Given the description of an element on the screen output the (x, y) to click on. 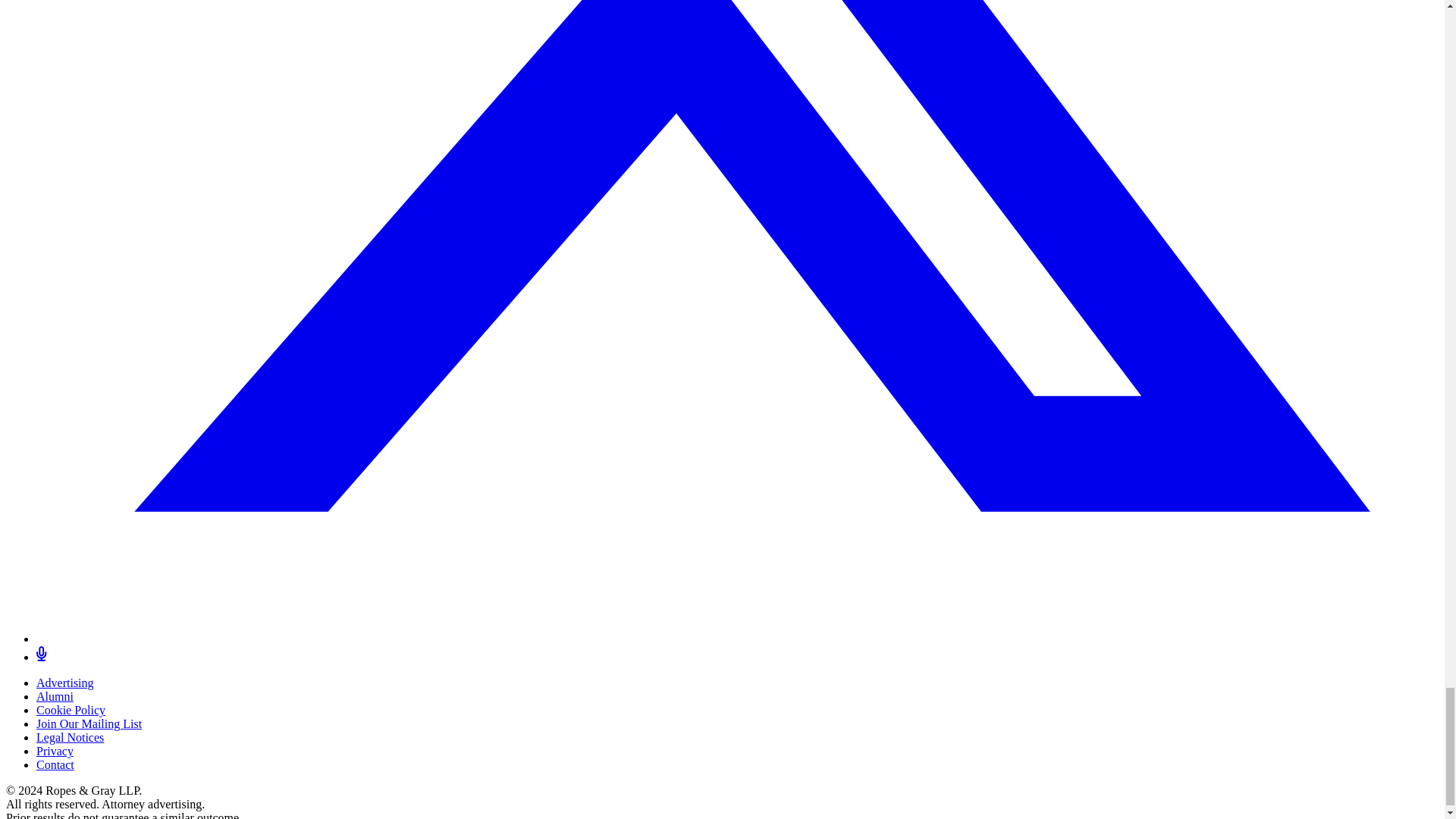
podcasts (41, 656)
